Given the description of an element on the screen output the (x, y) to click on. 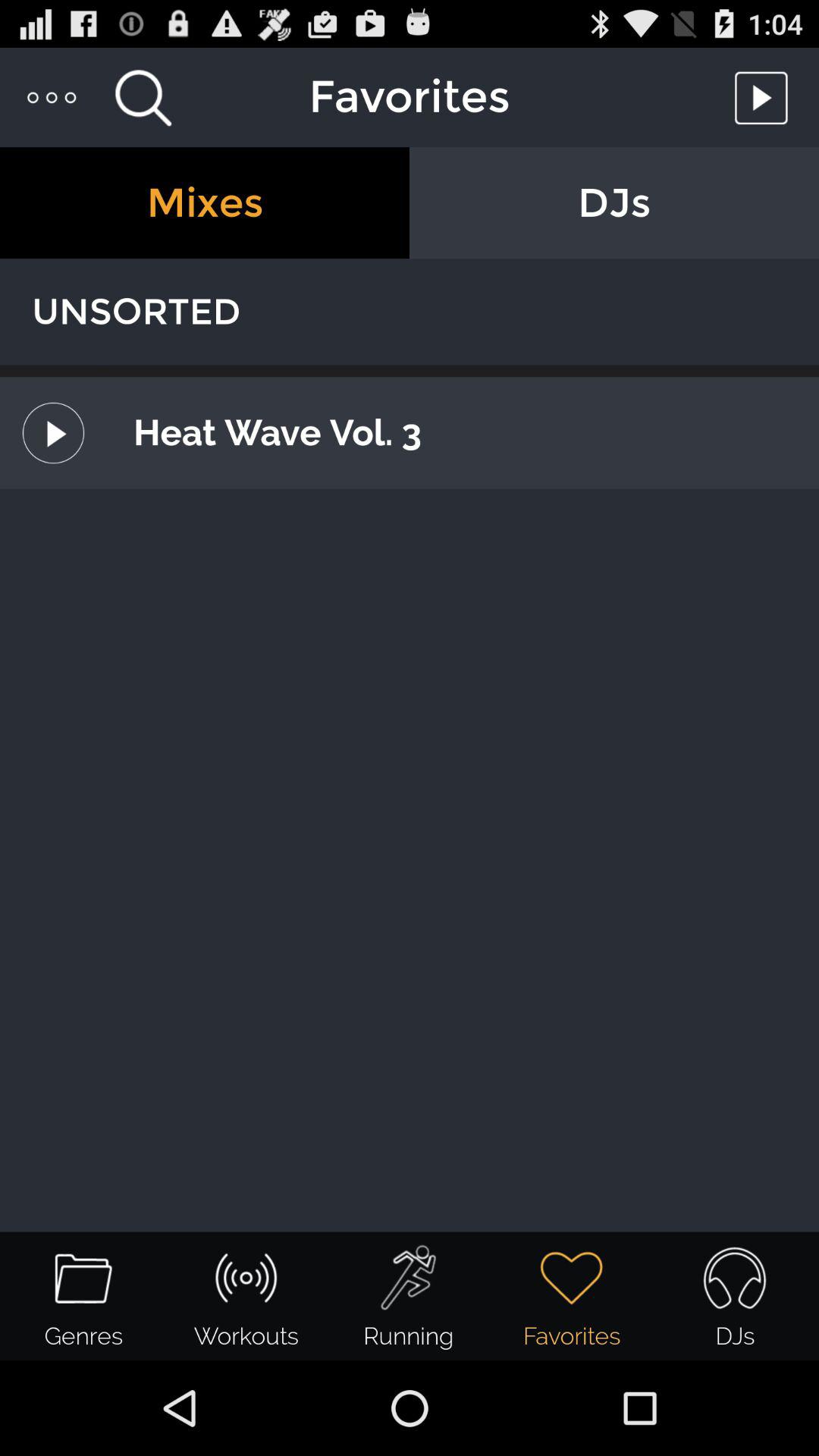
tap heat wave vol icon (459, 432)
